Given the description of an element on the screen output the (x, y) to click on. 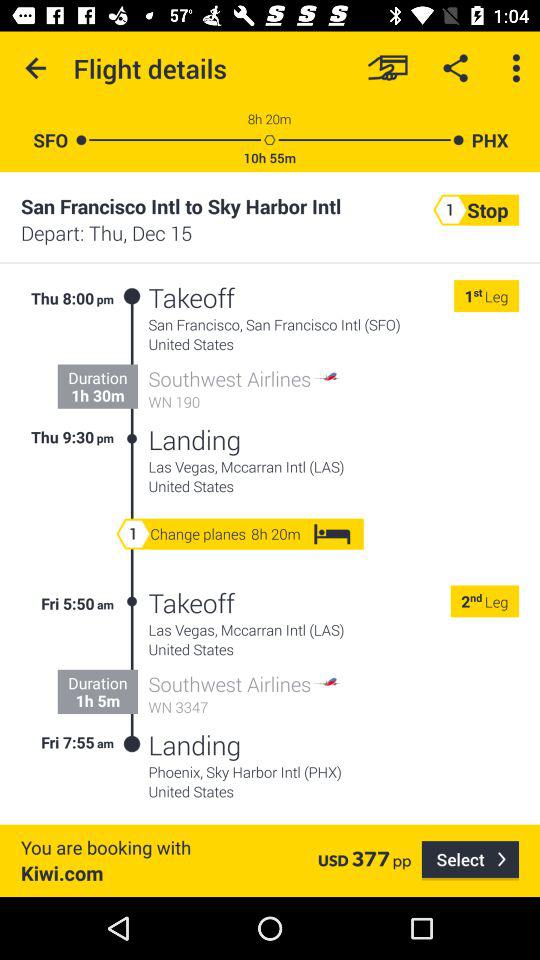
click item above the sfo (36, 68)
